Given the description of an element on the screen output the (x, y) to click on. 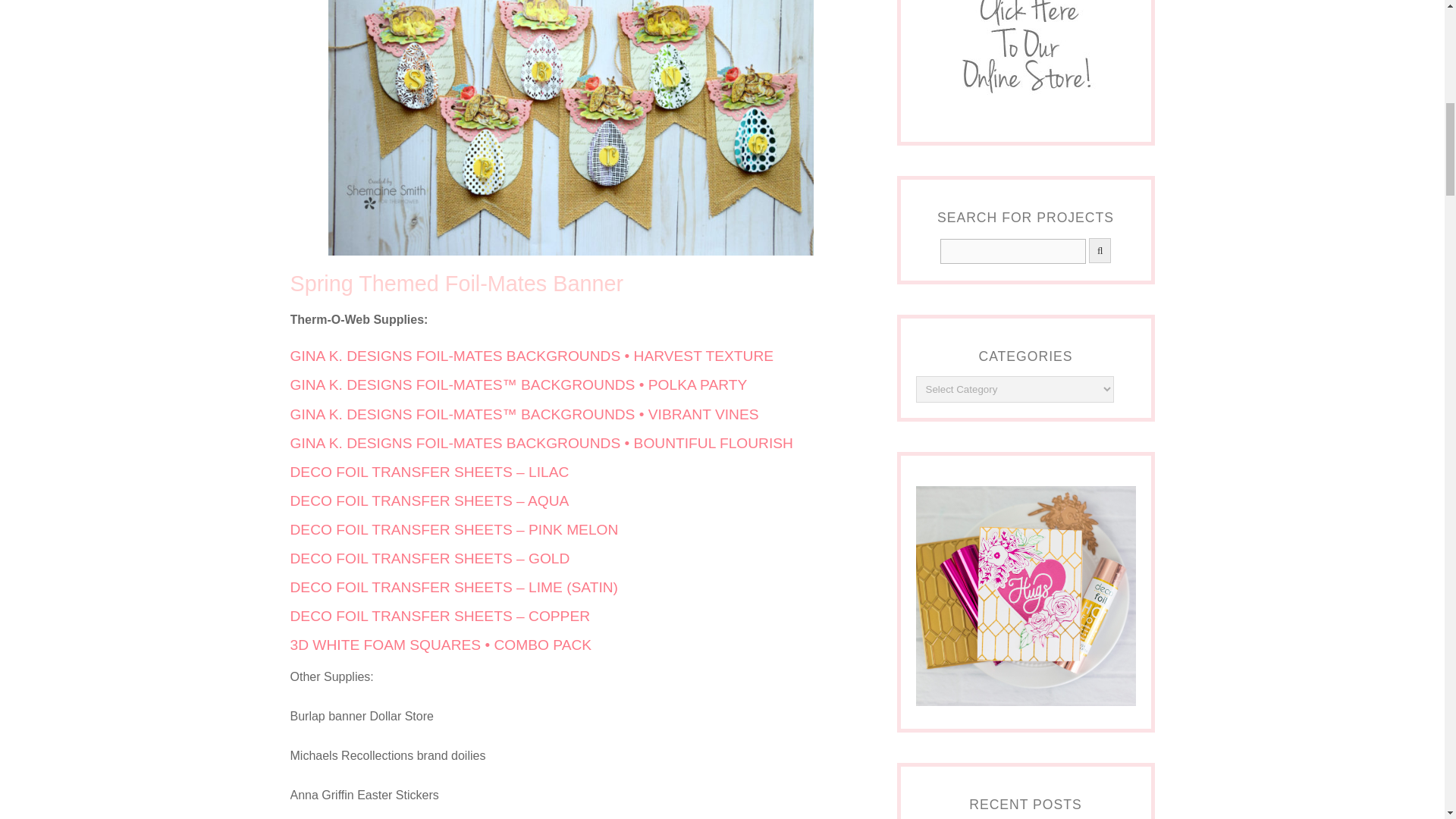
Search (1013, 251)
